Given the description of an element on the screen output the (x, y) to click on. 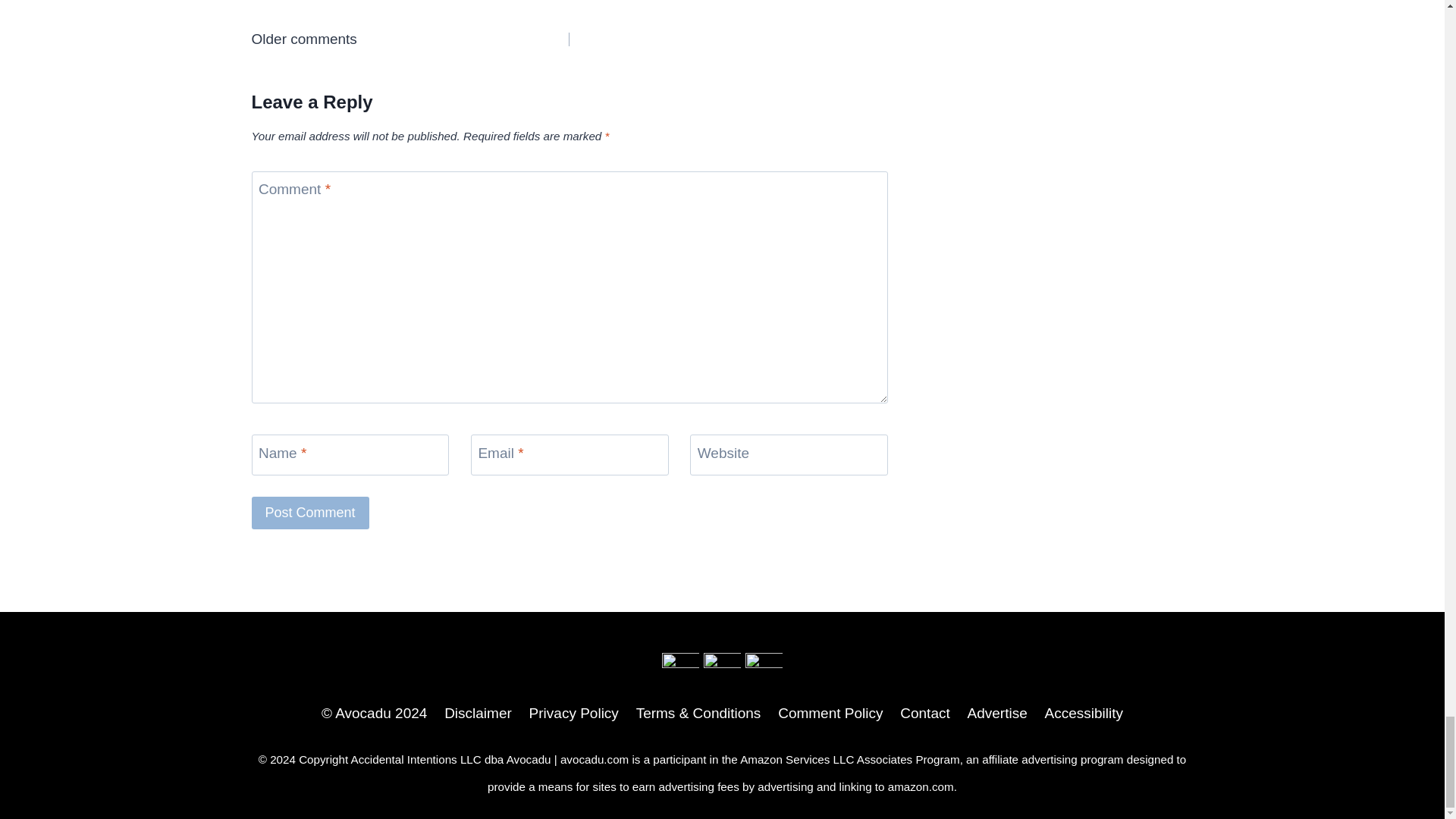
Post Comment (310, 512)
